Given the description of an element on the screen output the (x, y) to click on. 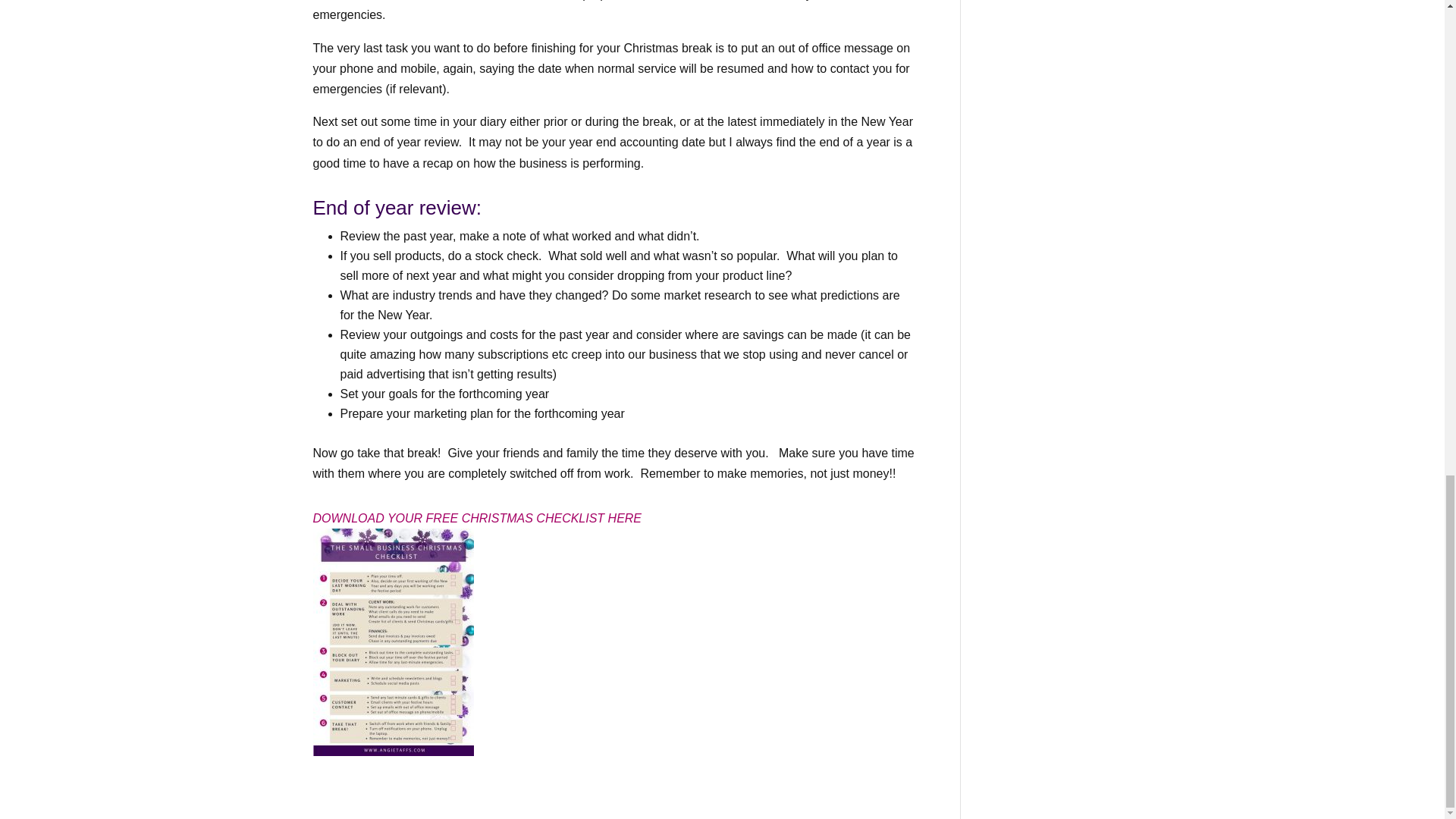
DOWNLOAD YOUR FREE CHRISTMAS CHECKLIST HERE (477, 517)
